Given the description of an element on the screen output the (x, y) to click on. 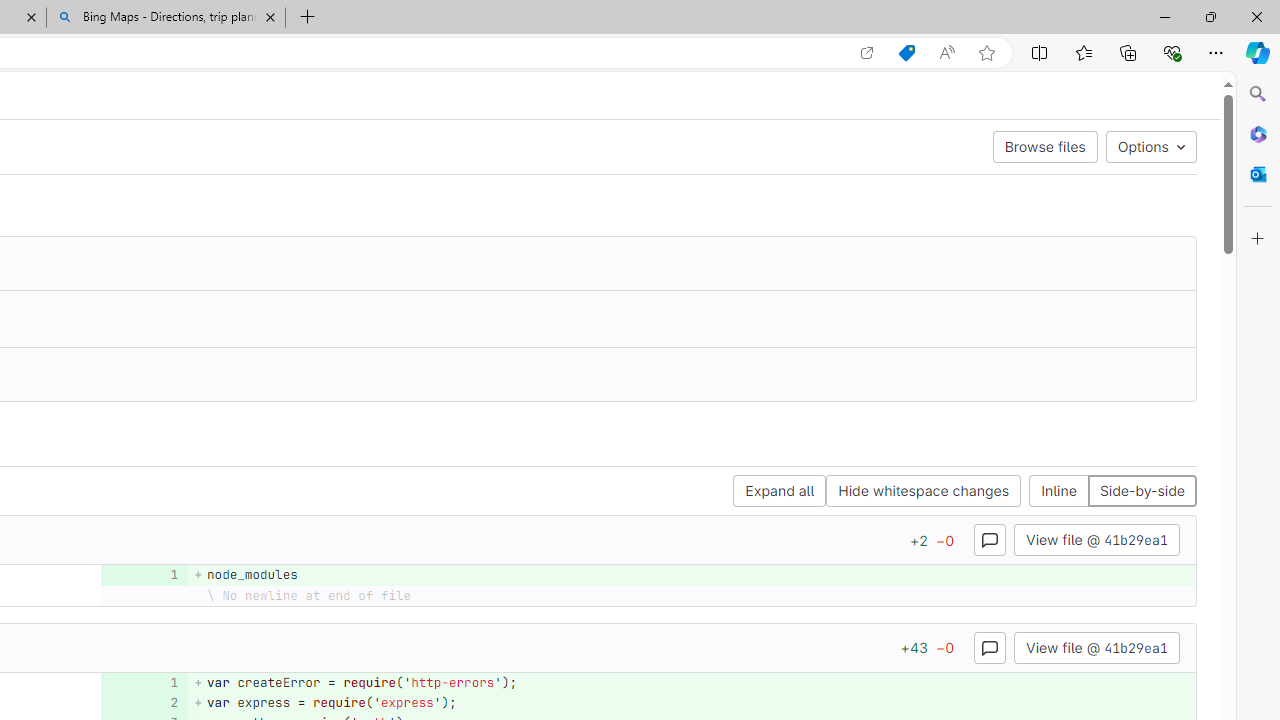
Inline (1059, 491)
Hide whitespace changes (923, 491)
Class: s16 gl-icon gl-button-icon  (989, 647)
Add a comment to this line 2 (144, 701)
View file @ 41b29ea1 (1096, 646)
Browse files (1045, 146)
Class: s12 (137, 700)
